Given the description of an element on the screen output the (x, y) to click on. 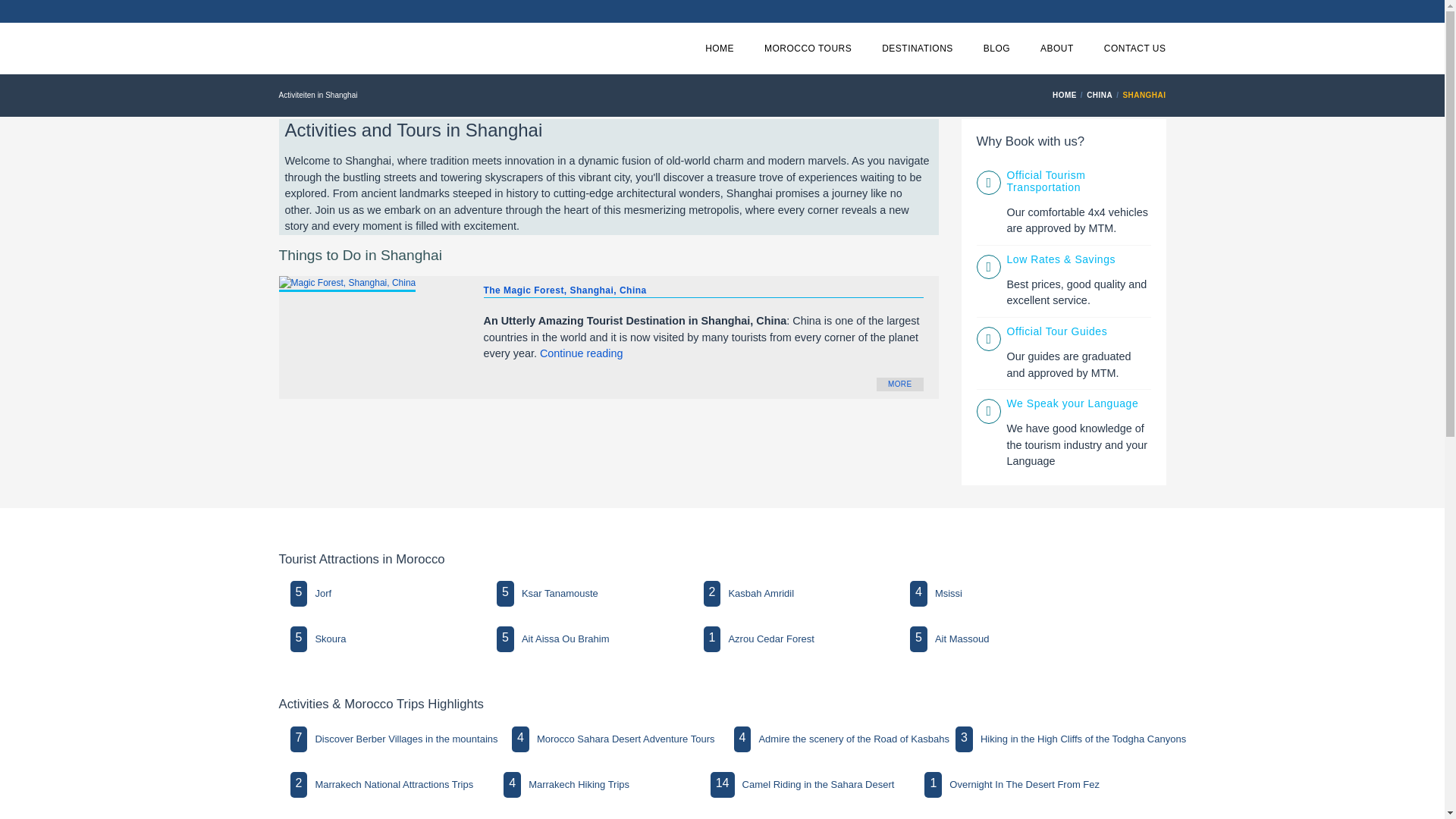
HOME (1066, 94)
Admire the scenery of the Road of Kasbahs (853, 738)
Marrakech Hiking Trips (579, 784)
Find your Morocco Tour (807, 48)
Ksar Tanamouste (559, 593)
Marrakech National Attractions Trips (393, 784)
Contact Our Team (1134, 48)
CONTACT US (1134, 48)
Things to do (917, 48)
The Magic Forest, Shanghai, China (564, 290)
